Given the description of an element on the screen output the (x, y) to click on. 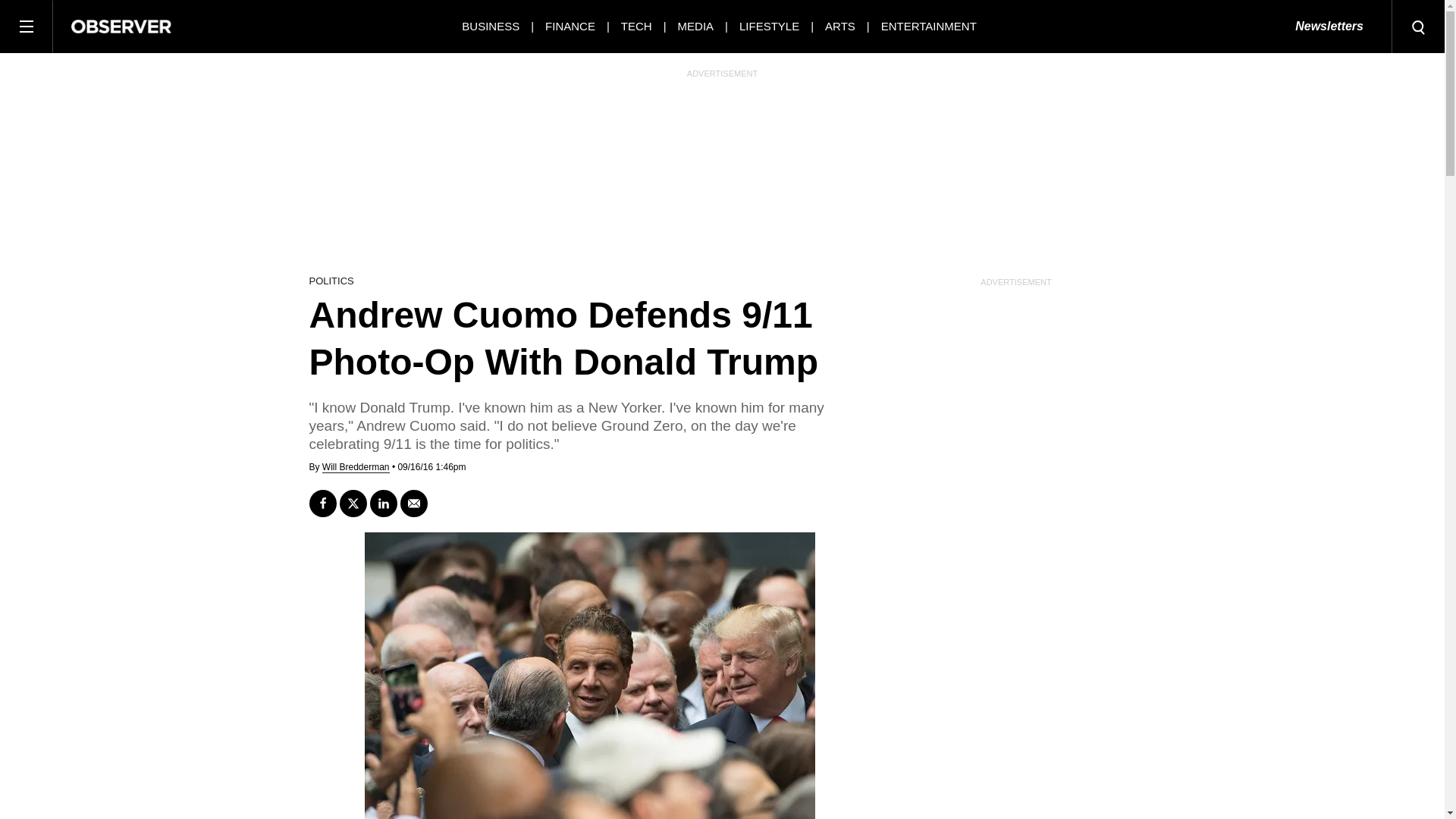
LIFESTYLE (769, 25)
Newsletters (1329, 26)
ENTERTAINMENT (928, 25)
Tweet (352, 502)
FINANCE (569, 25)
Share on LinkedIn (383, 502)
MEDIA (696, 25)
BUSINESS (490, 25)
Observer (121, 26)
Send email (414, 502)
View All Posts by Will Bredderman (355, 467)
Share on Facebook (322, 502)
TECH (636, 25)
ARTS (840, 25)
